Given the description of an element on the screen output the (x, y) to click on. 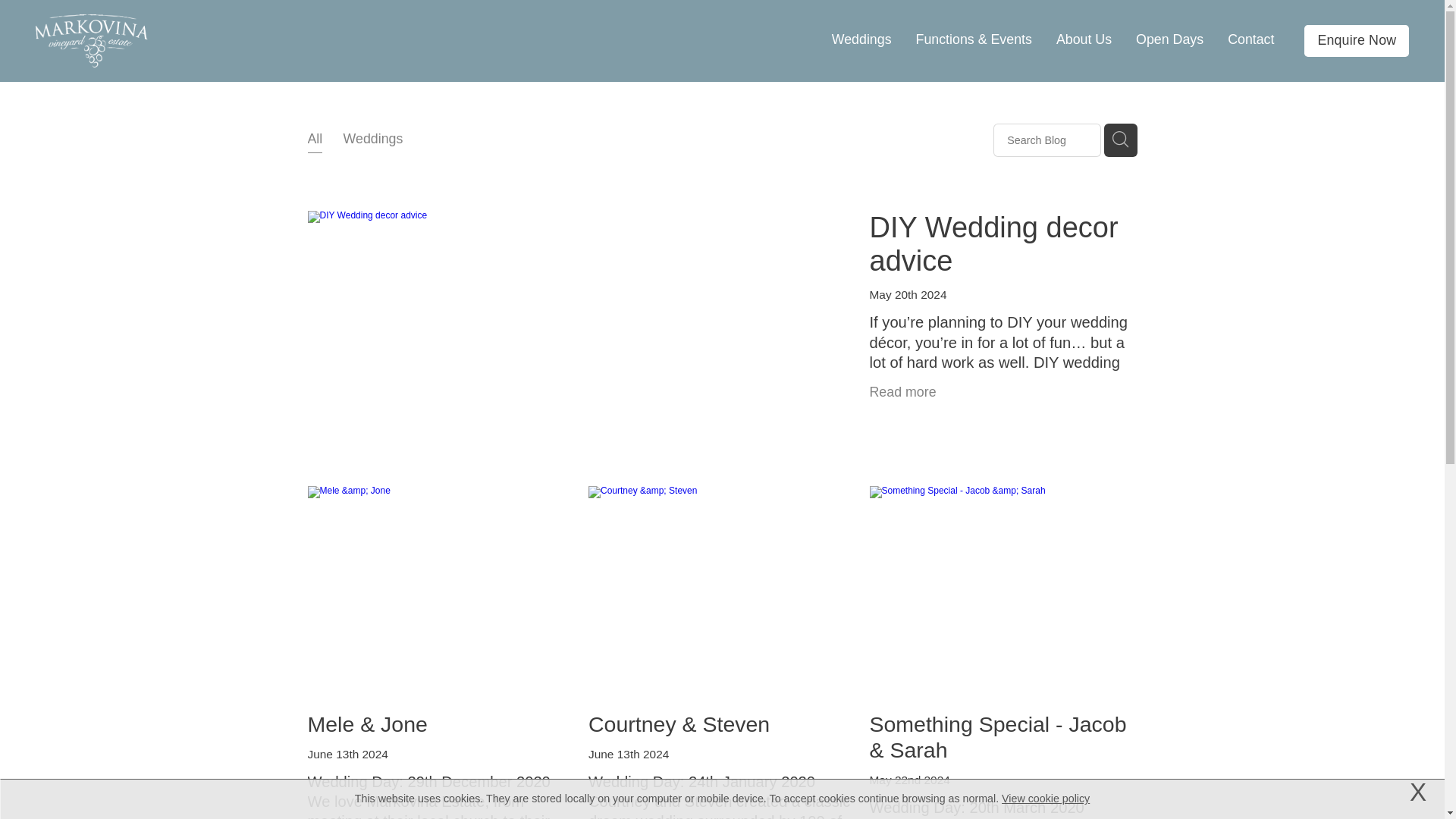
DIY Wedding decor advice (1000, 339)
DIY Wedding decor advice (993, 243)
Open Days (1169, 38)
Contact (1250, 38)
About Us (1084, 38)
Weddings (373, 140)
Weddings (861, 38)
DIY Wedding decor advice (993, 243)
